Given the description of an element on the screen output the (x, y) to click on. 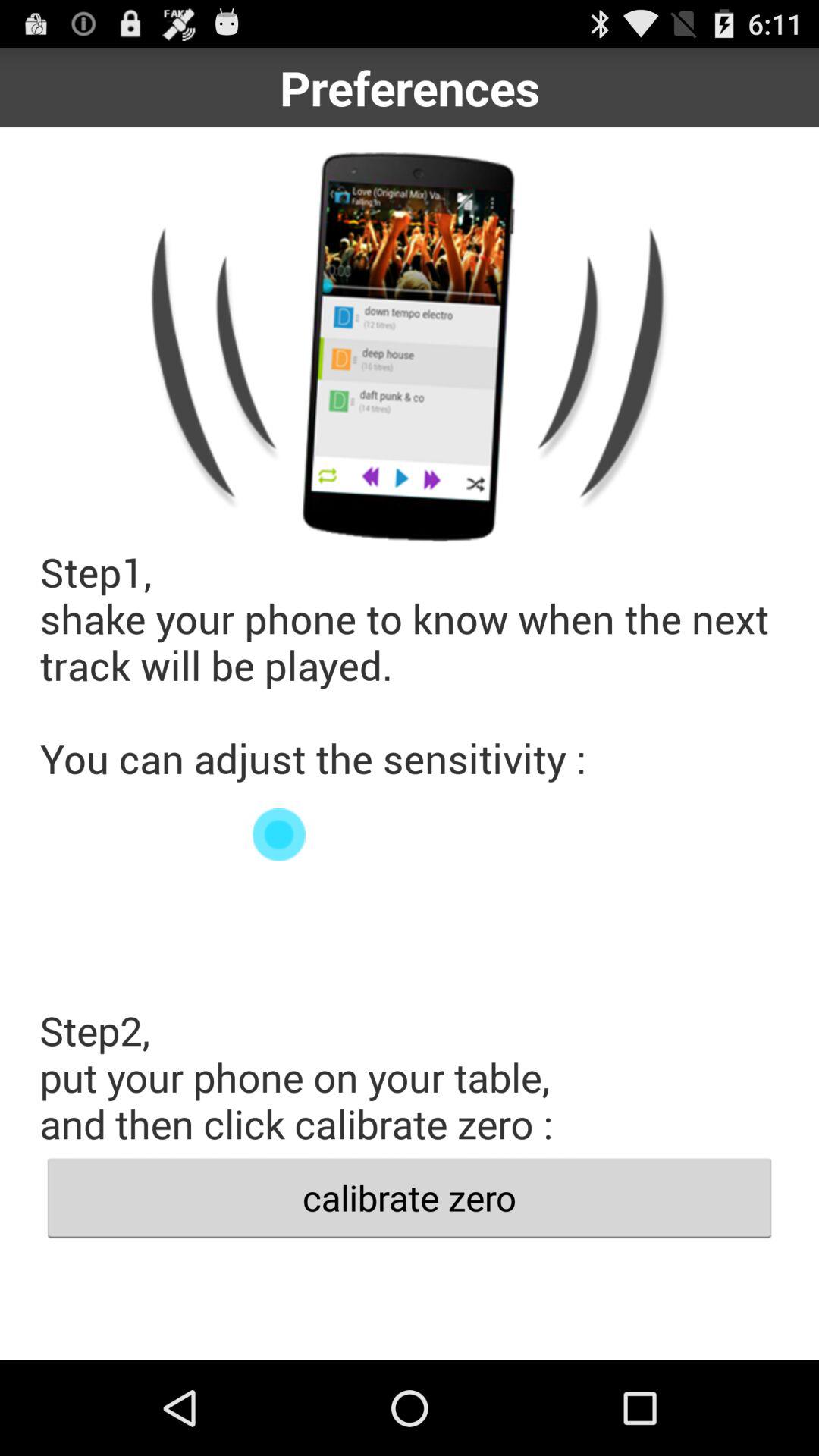
choose the item below step1 shake your (409, 834)
